Given the description of an element on the screen output the (x, y) to click on. 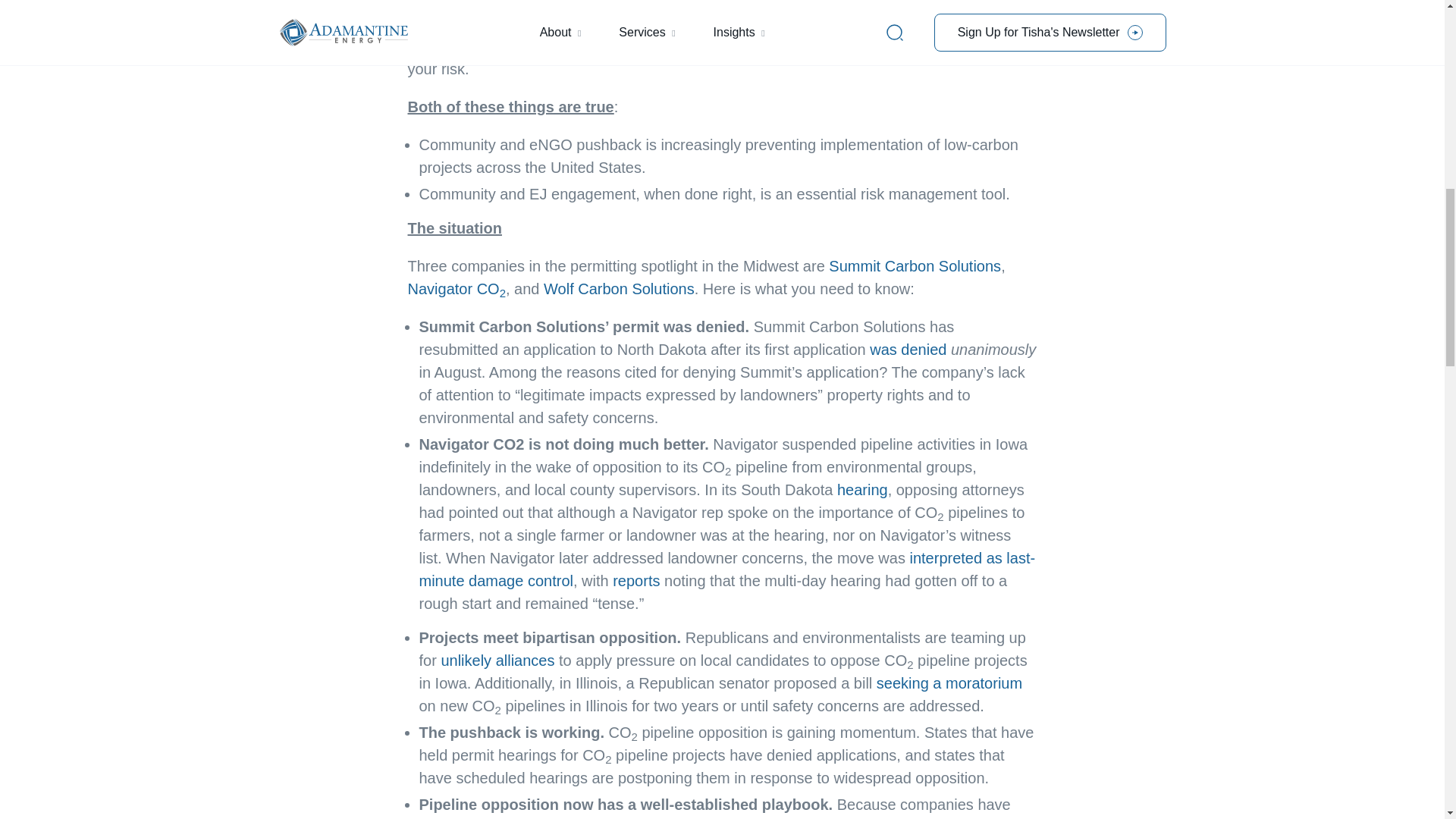
reports (635, 580)
Navigator CO2 (456, 288)
unlikely alliances (497, 660)
Summit Carbon Solutions (914, 265)
hearing (862, 489)
seeking a moratorium (949, 682)
a good EJ strategy (871, 23)
Wolf Carbon Solutions (618, 288)
interpreted as last-minute damage control (727, 568)
was denied (907, 349)
